Given the description of an element on the screen output the (x, y) to click on. 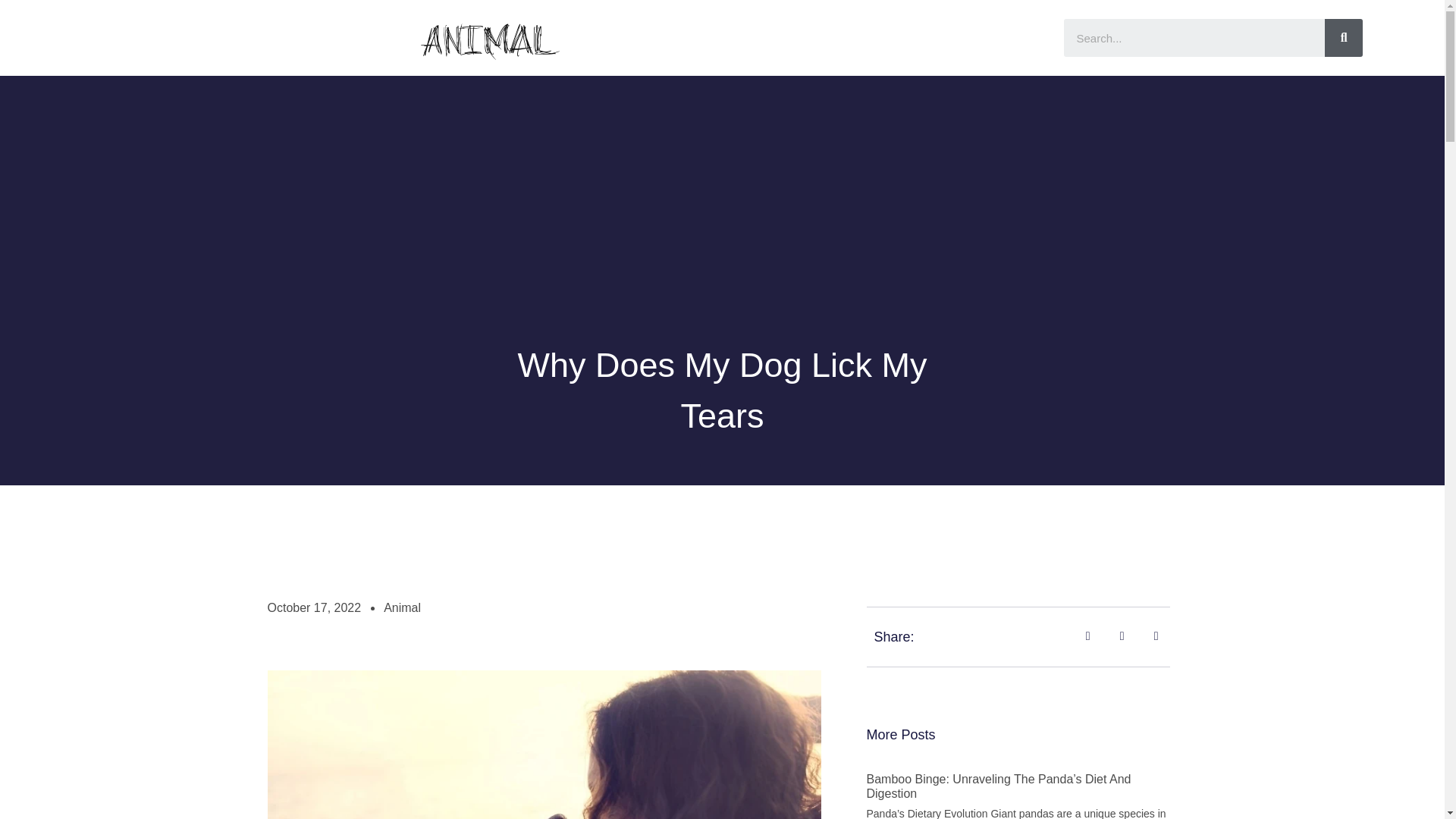
October 17, 2022 (313, 607)
Search (1343, 37)
Animal (402, 607)
Search (1194, 37)
